Given the description of an element on the screen output the (x, y) to click on. 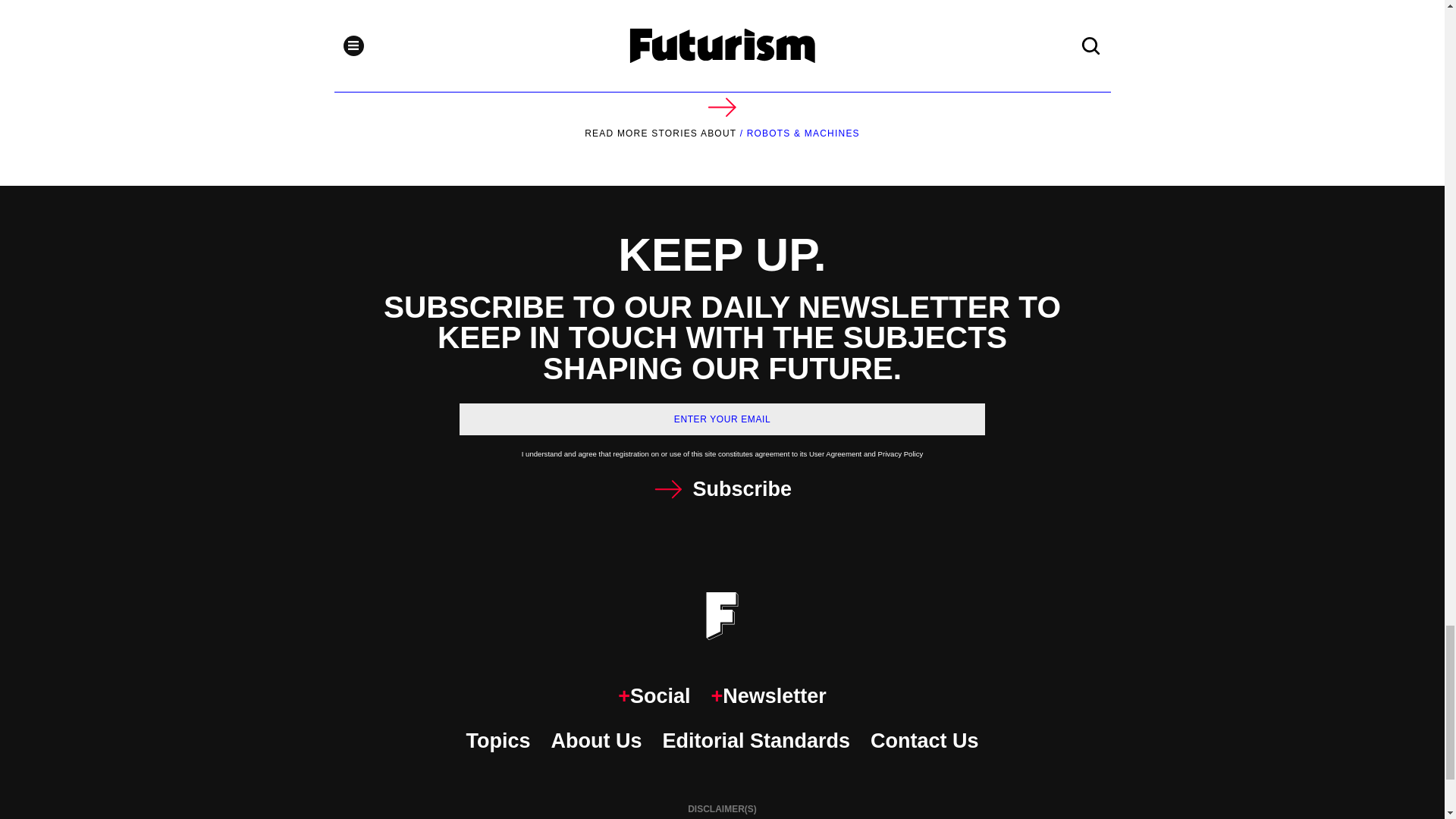
About Us (596, 740)
Subscribe (722, 489)
Topics (497, 740)
Contact Us (924, 740)
Editorial Standards (756, 740)
